Given the description of an element on the screen output the (x, y) to click on. 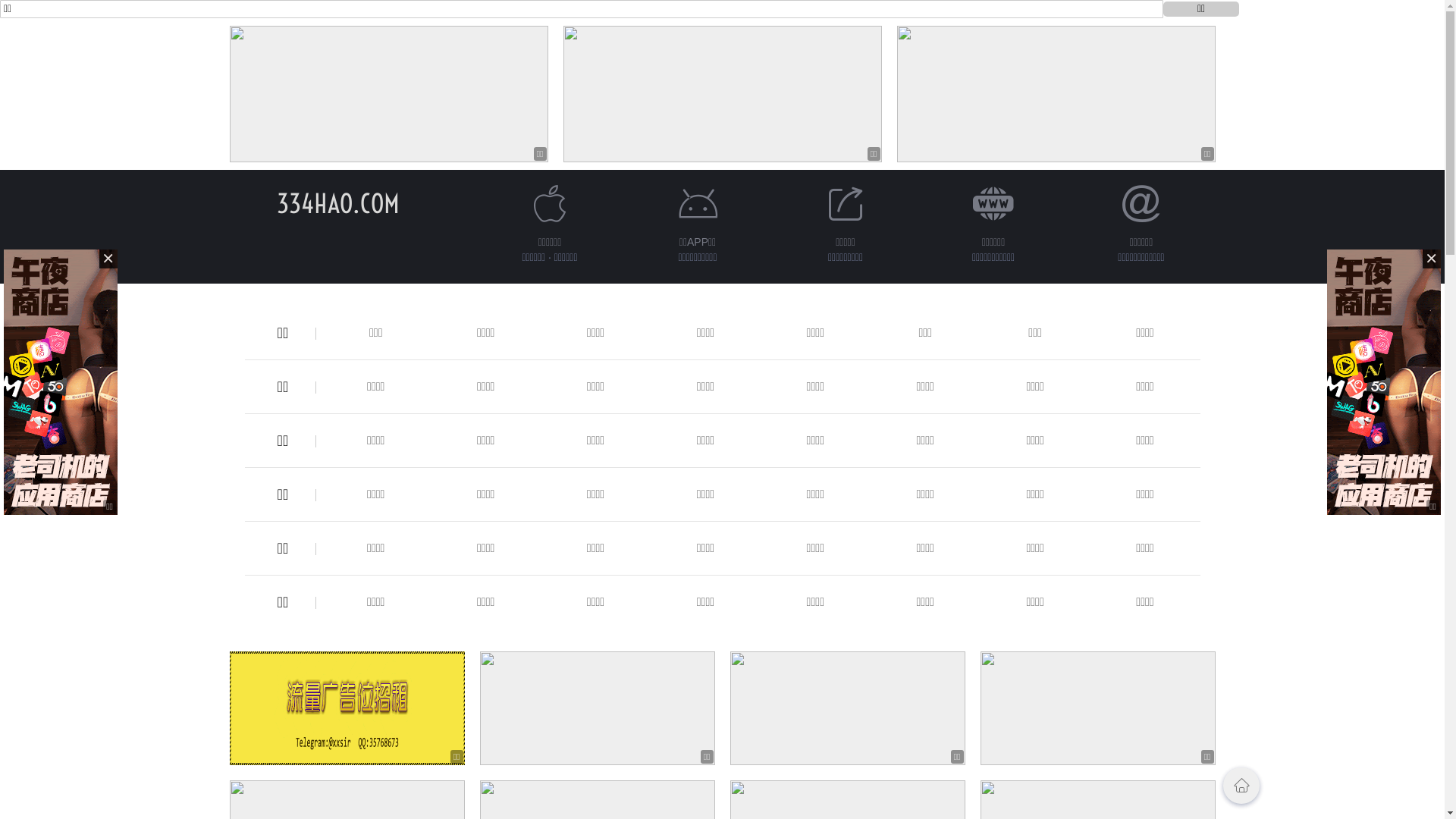
334HAO.COM Element type: text (337, 203)
